Given the description of an element on the screen output the (x, y) to click on. 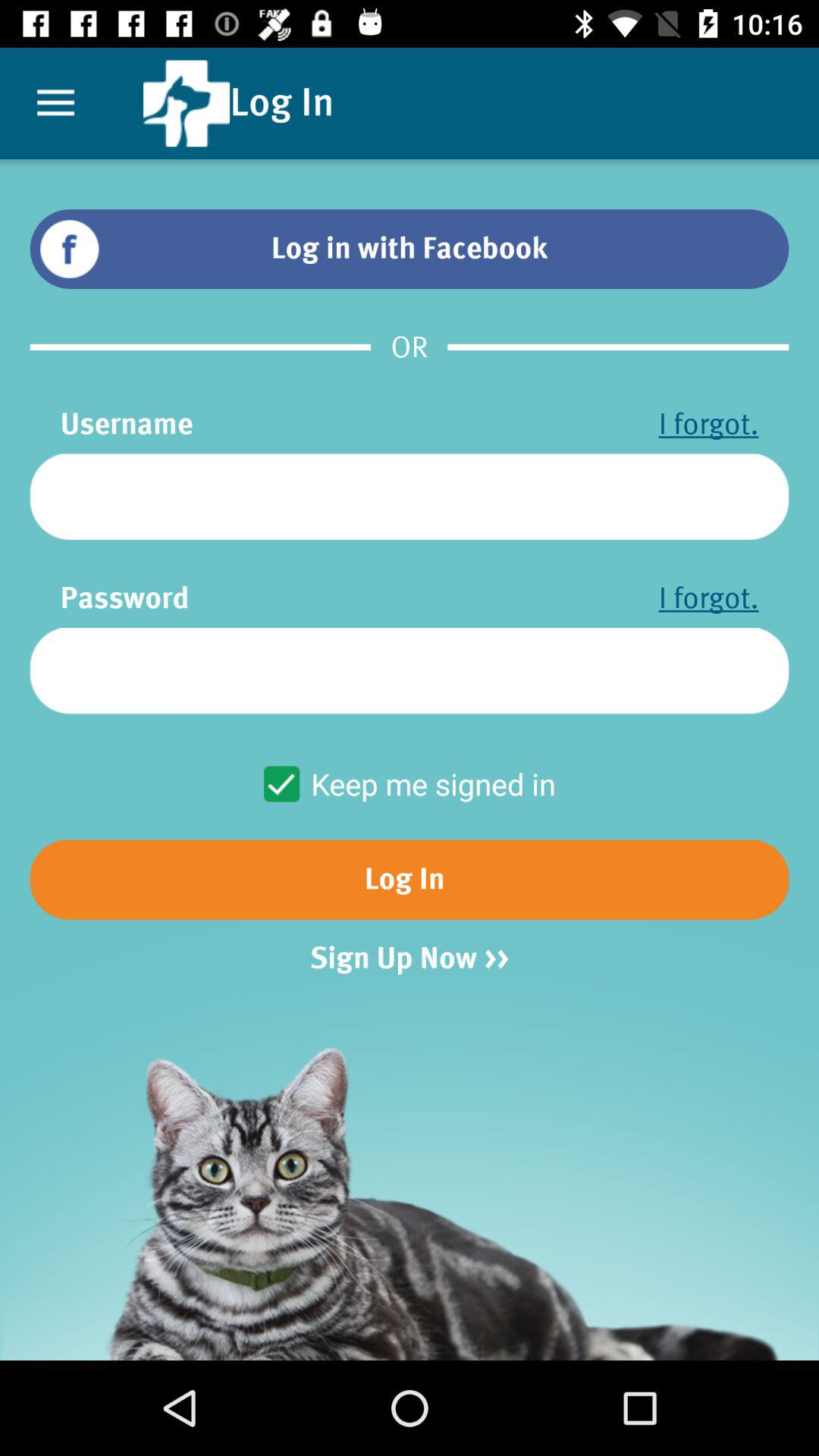
launch sign up now >> item (409, 958)
